Given the description of an element on the screen output the (x, y) to click on. 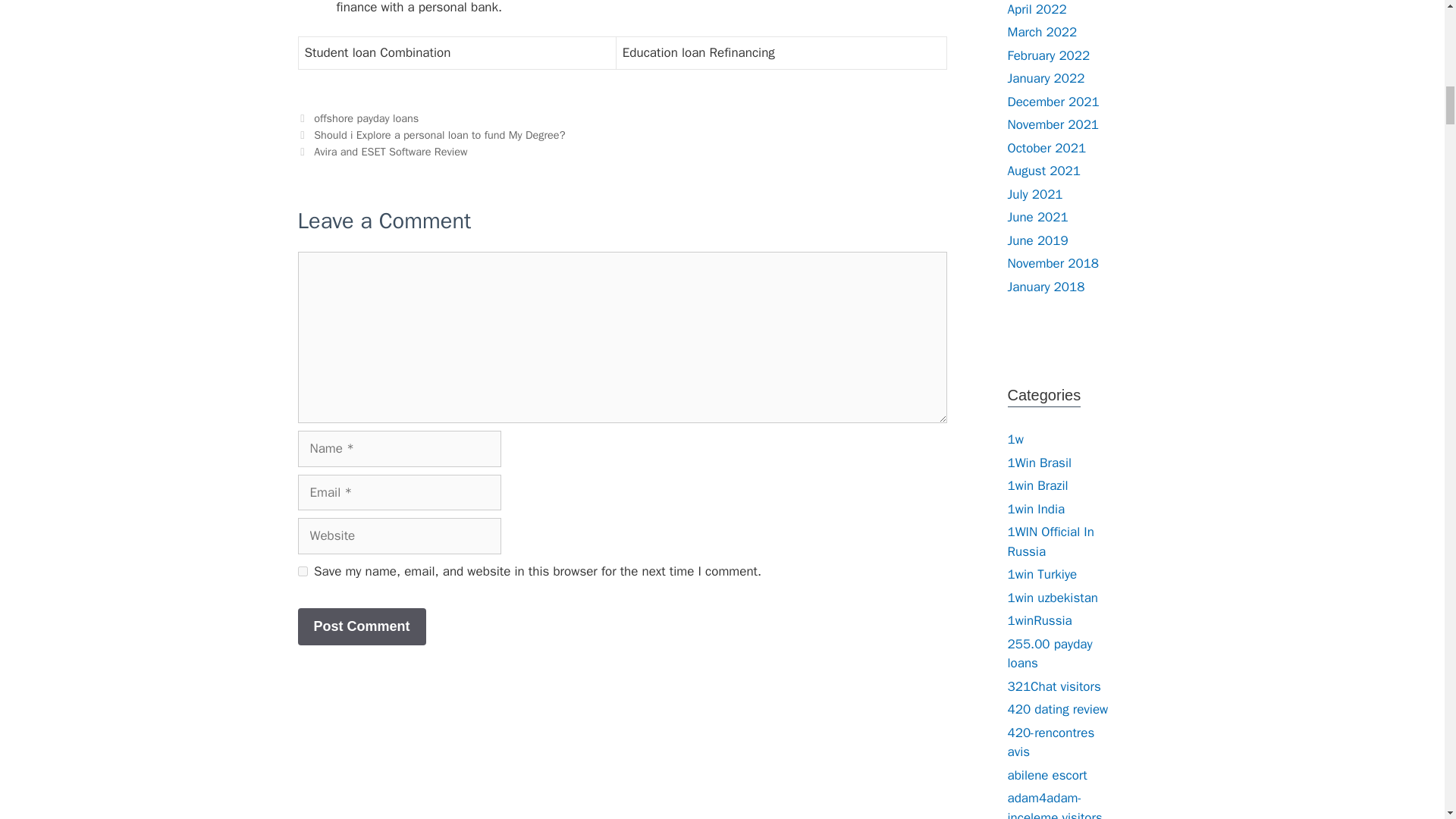
offshore payday loans (366, 118)
Should i Explore a personal loan to fund My Degree? (439, 134)
Post Comment (361, 626)
Avira and ESET Software Review (390, 151)
Post Comment (361, 626)
yes (302, 571)
